Given the description of an element on the screen output the (x, y) to click on. 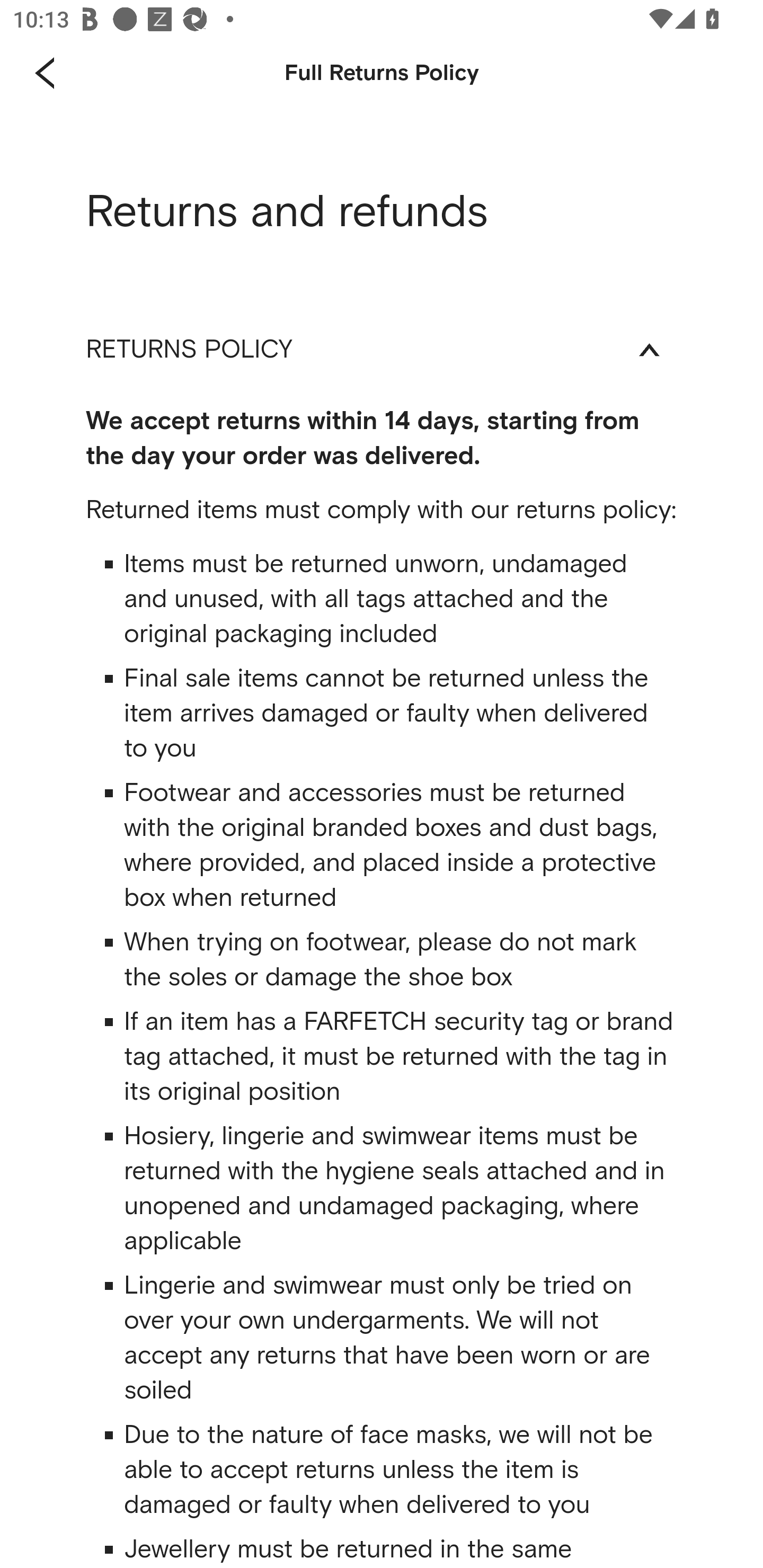
RETURNS POLICY (381, 348)
